Given the description of an element on the screen output the (x, y) to click on. 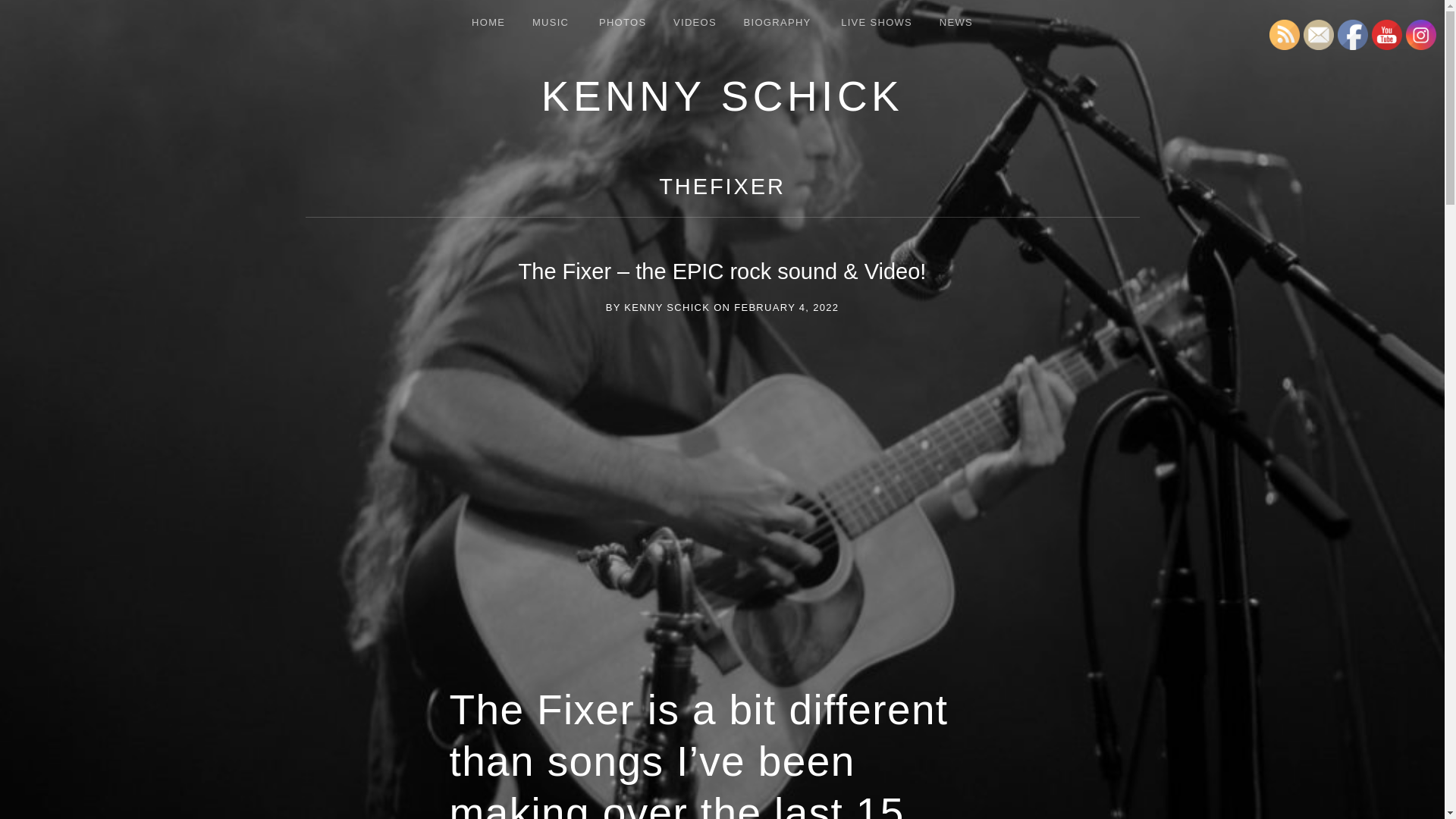
KENNY SCHICK (667, 307)
Facebook (1353, 34)
KENNY SCHICK (722, 95)
Follow by Email (1318, 34)
MUSIC (551, 22)
HOME (488, 22)
RSS (1284, 34)
NEWS (956, 22)
YouTube (1386, 34)
